Given the description of an element on the screen output the (x, y) to click on. 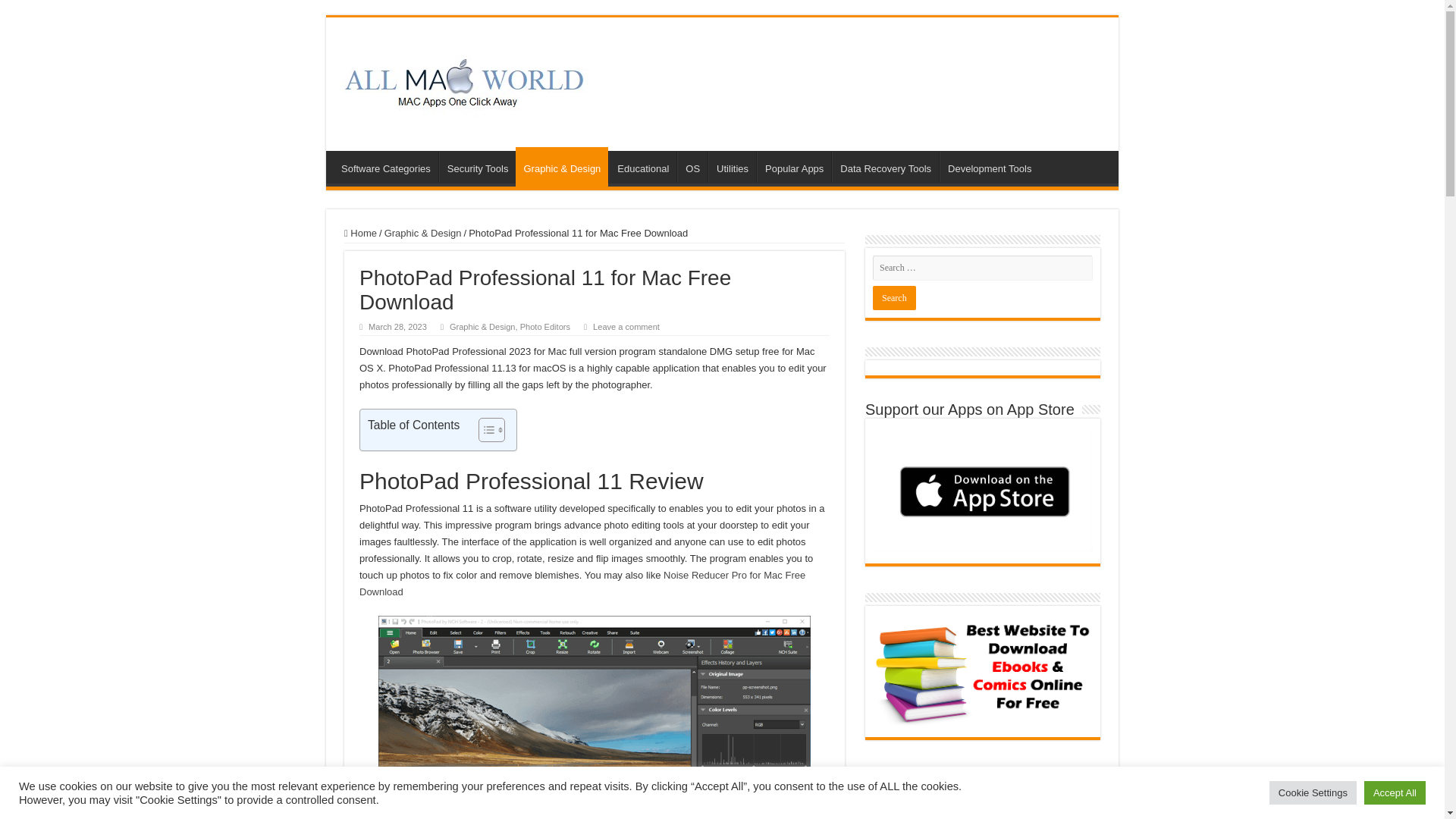
Search (893, 297)
Development Tools (989, 166)
OS (692, 166)
Noise Reducer Pro for Mac Free Download (582, 583)
Photo Editors (544, 326)
Educational (642, 166)
Data Recovery Tools (885, 166)
Home (360, 233)
Software Categories (385, 166)
Search (893, 297)
